Given the description of an element on the screen output the (x, y) to click on. 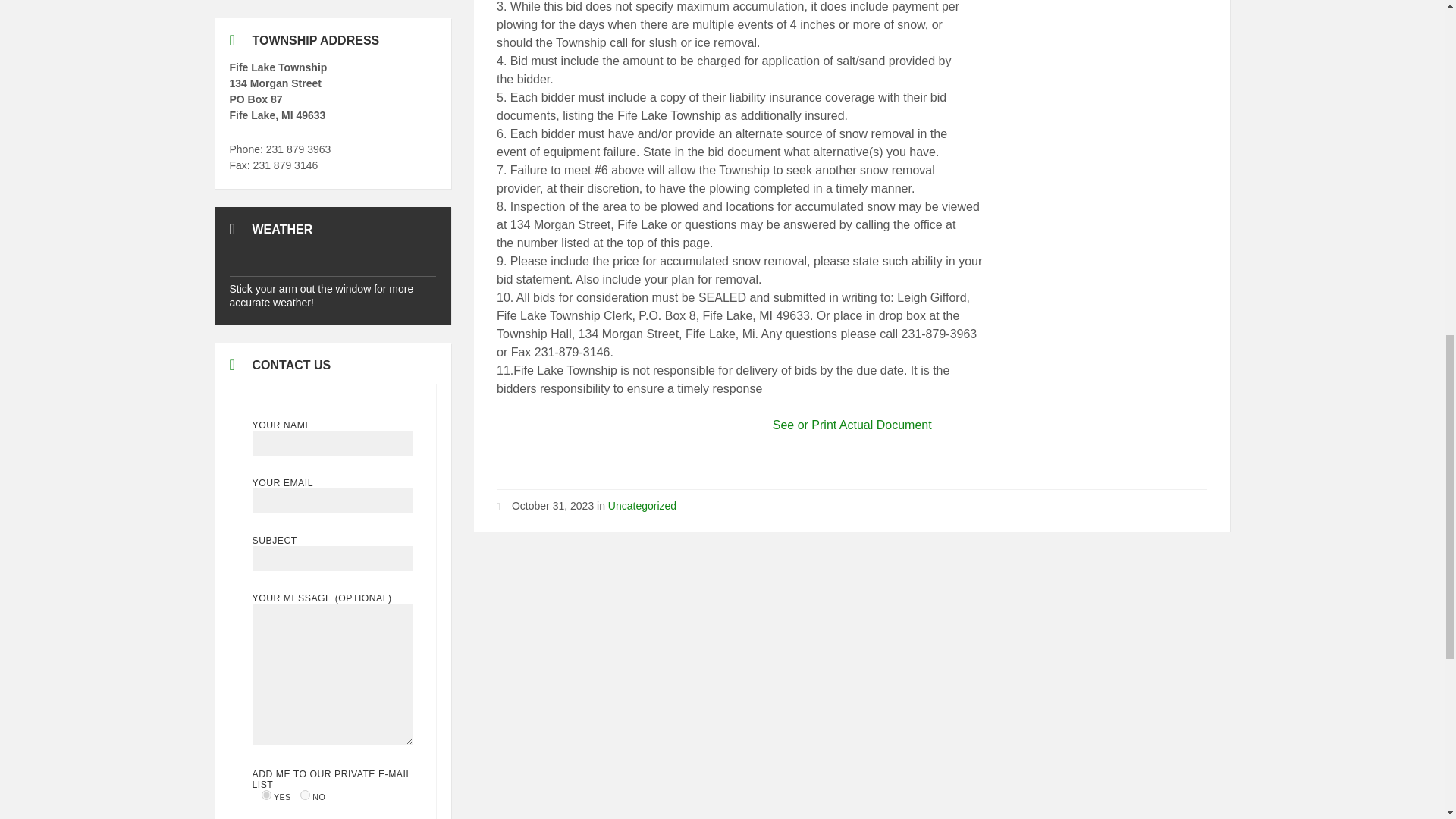
Yes (266, 795)
No (304, 795)
